Given the description of an element on the screen output the (x, y) to click on. 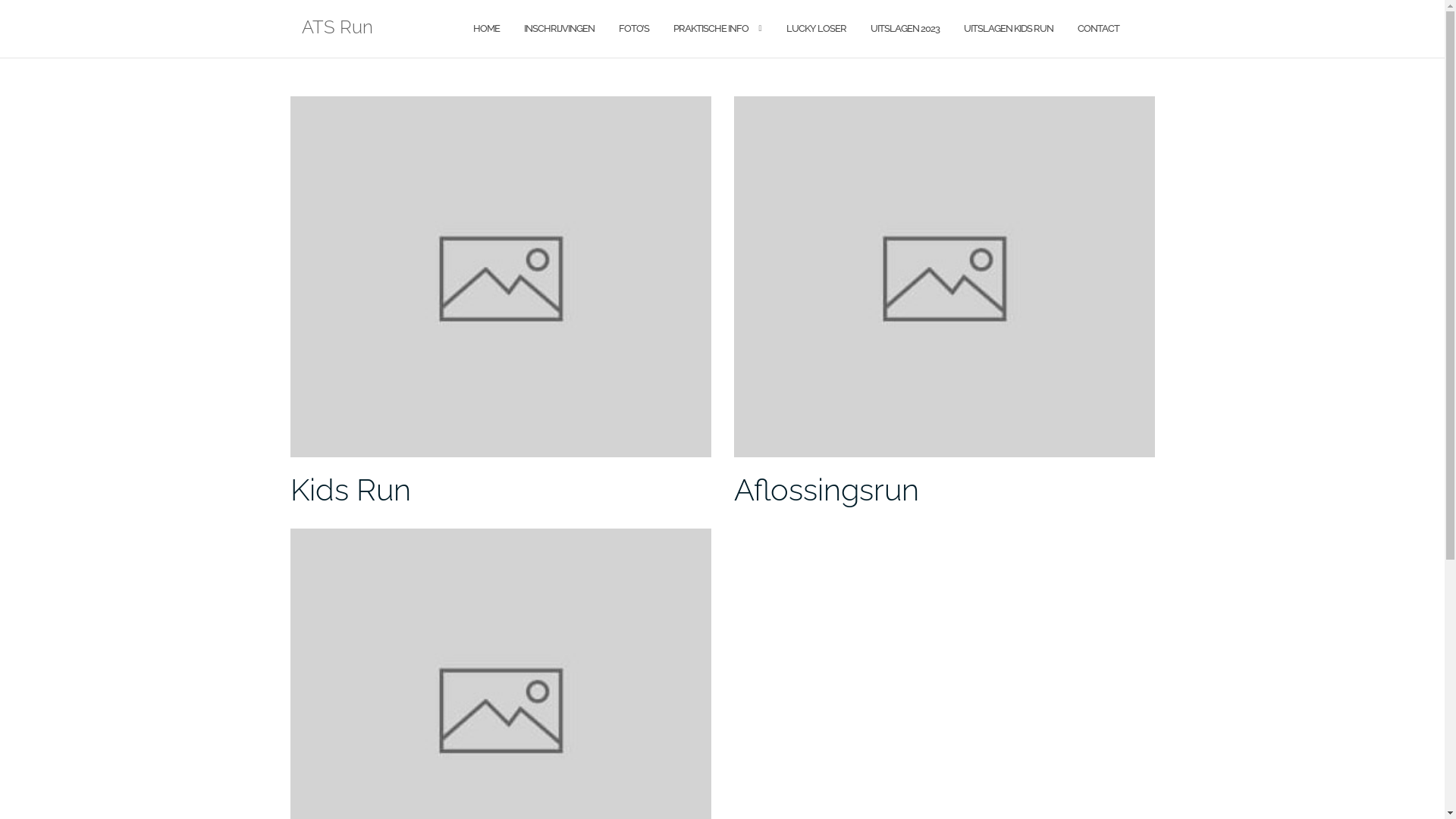
Kids Run Element type: text (349, 489)
PRAKTISCHE INFO Element type: text (710, 28)
CONTACT Element type: text (1097, 28)
LUCKY LOSER Element type: text (815, 28)
Aflossingsrun Element type: text (826, 489)
UITSLAGEN 2023 Element type: text (904, 28)
HOME Element type: text (486, 28)
INSCHRIJVINGEN Element type: text (558, 28)
ATS Run Element type: text (337, 28)
UITSLAGEN KIDS RUN Element type: text (1007, 28)
